Given the description of an element on the screen output the (x, y) to click on. 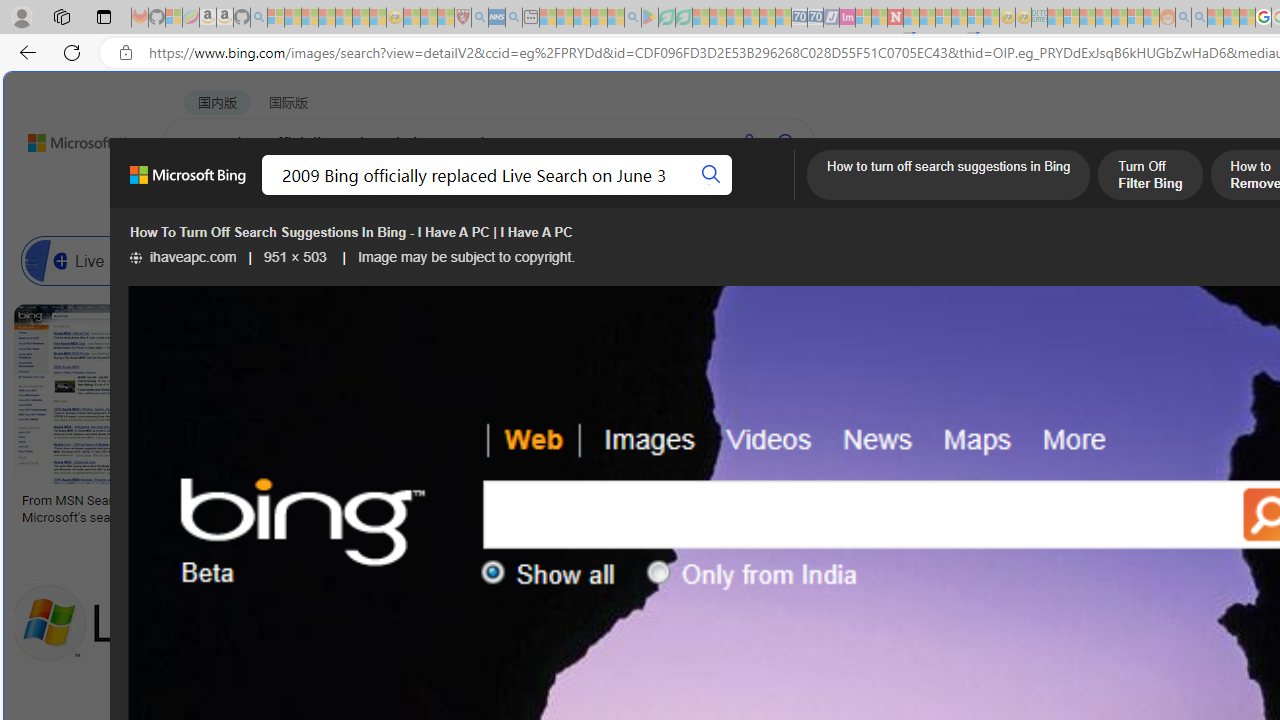
Pets - MSN - Sleeping (598, 17)
Microsoft Bing, Back to Bing search (188, 183)
Bing Word Search (648, 260)
VIDEOS (545, 195)
Bing Word Search (710, 260)
Microsoft Live LogoSave (740, 417)
DITOGAMES AG Imprint - Sleeping (1039, 17)
Microsoft Live Logo (737, 500)
Local - MSN - Sleeping (445, 17)
IMAGES (360, 195)
